Given the description of an element on the screen output the (x, y) to click on. 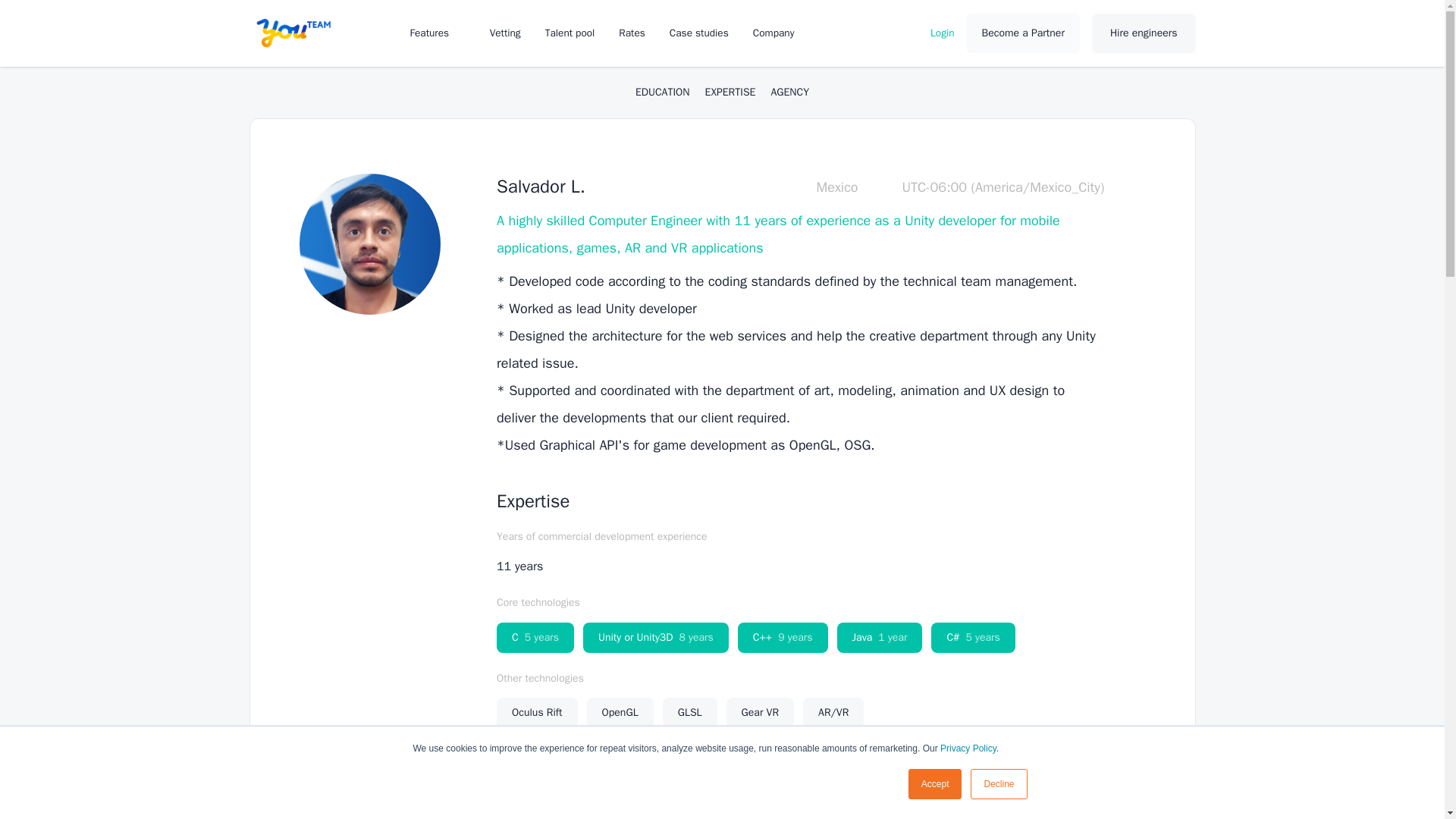
Check if Salvador is available (993, 797)
Login (942, 32)
AGENCY (789, 92)
Decline (998, 784)
Privacy Policy (967, 747)
Accept (935, 784)
Case studies (699, 32)
Vetting (505, 32)
Rates (631, 32)
Education (662, 92)
Become a Partner (1023, 32)
Agency (789, 92)
EDUCATION (662, 92)
Company (781, 32)
Hire engineers (1143, 33)
